Given the description of an element on the screen output the (x, y) to click on. 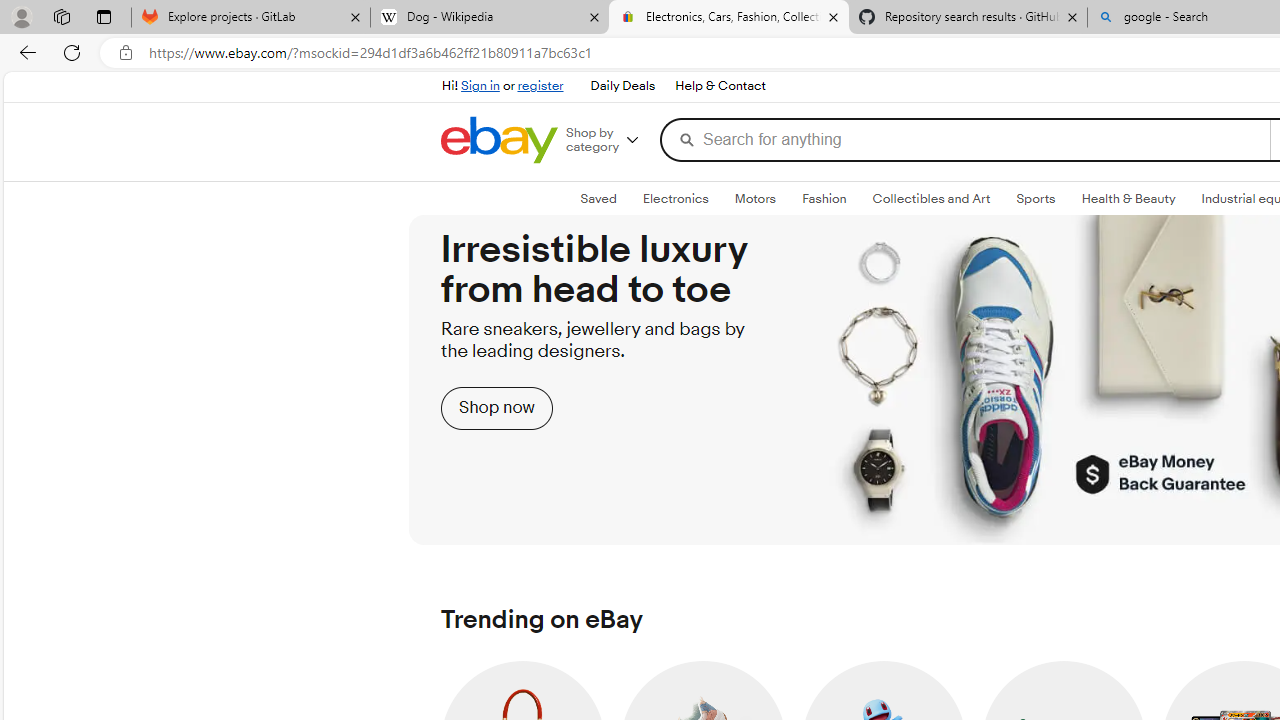
MotorsExpand: Motors (754, 199)
eBay Home (499, 139)
FashionExpand: Fashion (824, 199)
SportsExpand: Sports (1035, 199)
Health & BeautyExpand: Health & Beauty (1128, 199)
Daily Deals (622, 86)
Saved (597, 198)
Collectibles and Art (930, 198)
Dog - Wikipedia (490, 17)
